Given the description of an element on the screen output the (x, y) to click on. 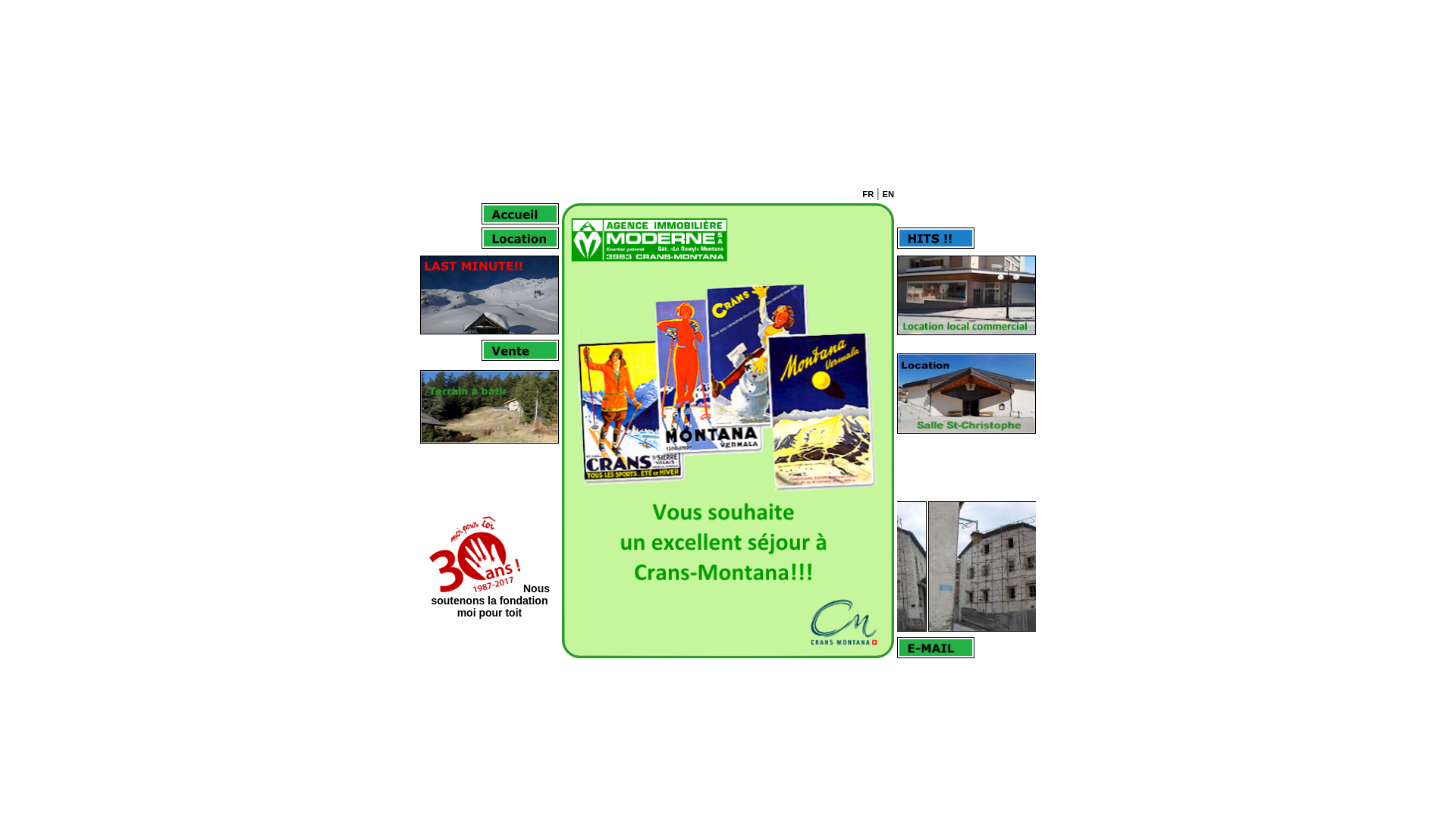
EN Element type: text (887, 193)
FR Element type: text (867, 193)
